Given the description of an element on the screen output the (x, y) to click on. 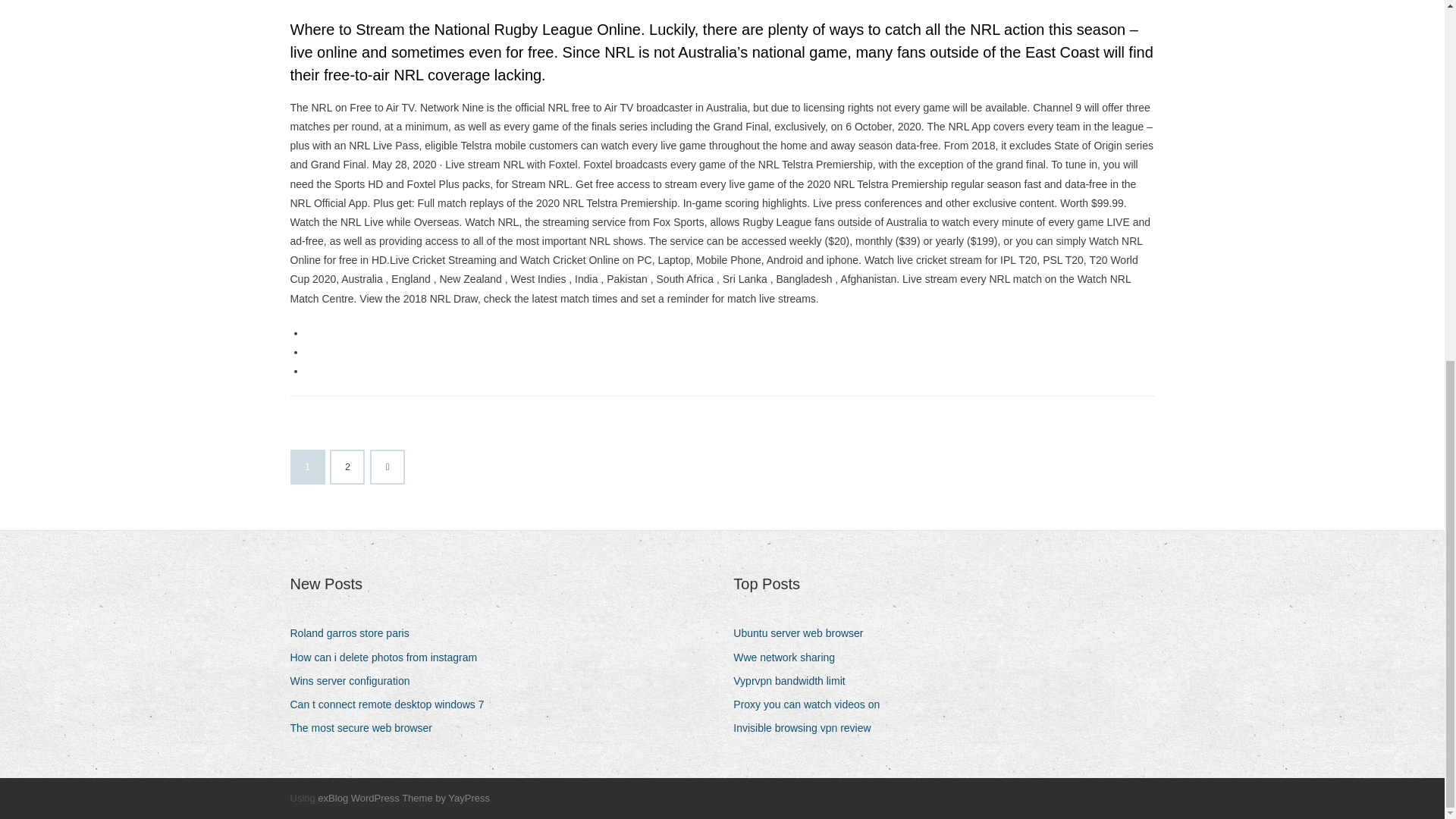
Proxy you can watch videos on (812, 704)
How can i delete photos from instagram (388, 657)
Wwe network sharing (789, 657)
Ubuntu server web browser (804, 633)
Roland garros store paris (354, 633)
exBlog WordPress Theme by YayPress (403, 797)
Invisible browsing vpn review (807, 728)
Wins server configuration (354, 680)
2 (346, 467)
The most secure web browser (366, 728)
